Given the description of an element on the screen output the (x, y) to click on. 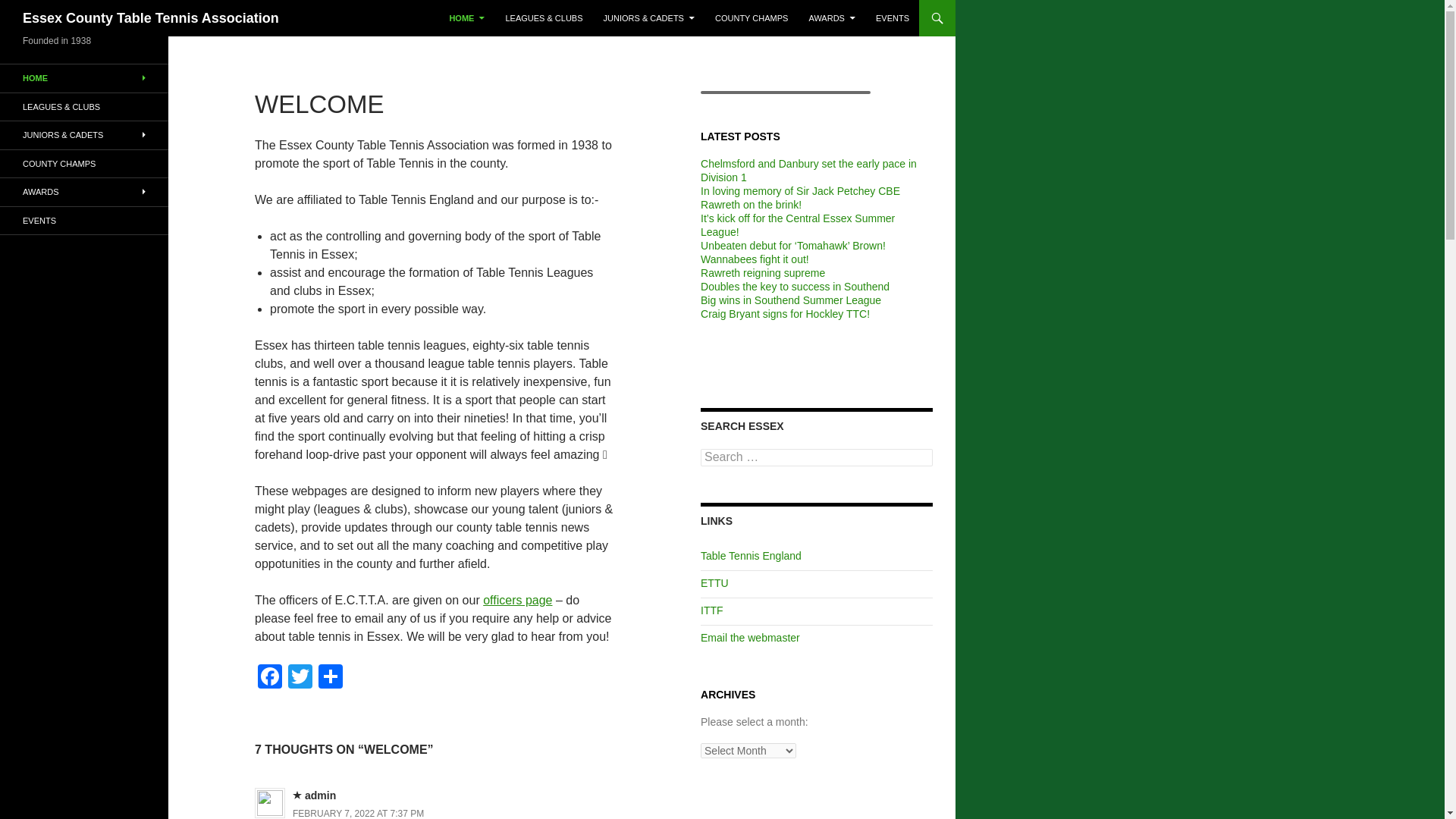
officers page (517, 599)
Local Leagues around the county of Essex (543, 18)
Essex County Table Tennis Association (151, 17)
Table Tennis England, front page (751, 555)
EVENTS (892, 18)
The European Table Tennis Union (714, 582)
Twitter (300, 678)
Facebook (269, 678)
FEBRUARY 7, 2022 AT 7:37 PM (357, 813)
COUNTY CHAMPS (751, 18)
HOME (466, 18)
Facebook (269, 678)
Contact the webmaster (749, 637)
Home Page (84, 78)
AWARDS (831, 18)
